Given the description of an element on the screen output the (x, y) to click on. 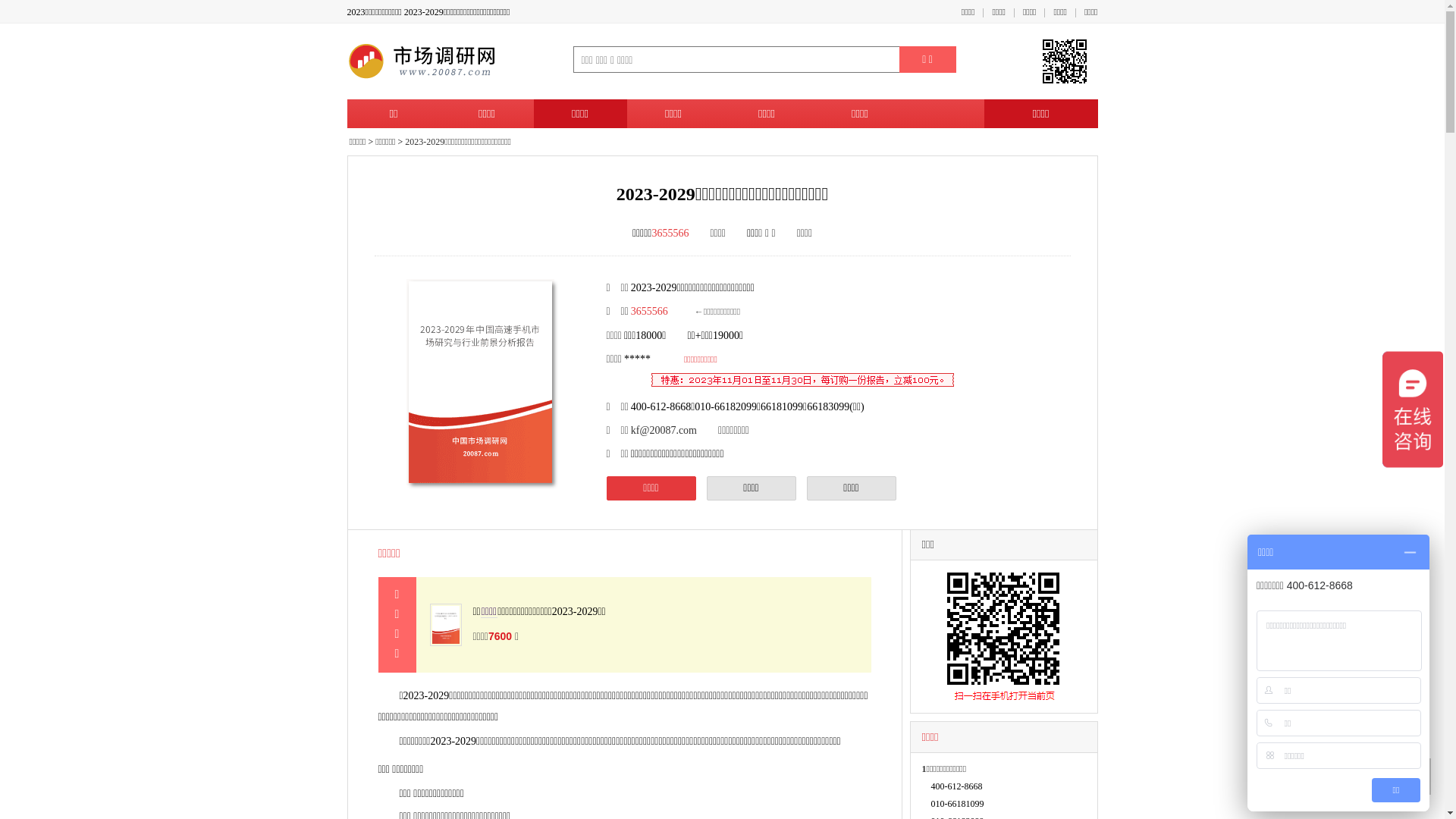
kf@20087.com Element type: text (663, 430)
